Given the description of an element on the screen output the (x, y) to click on. 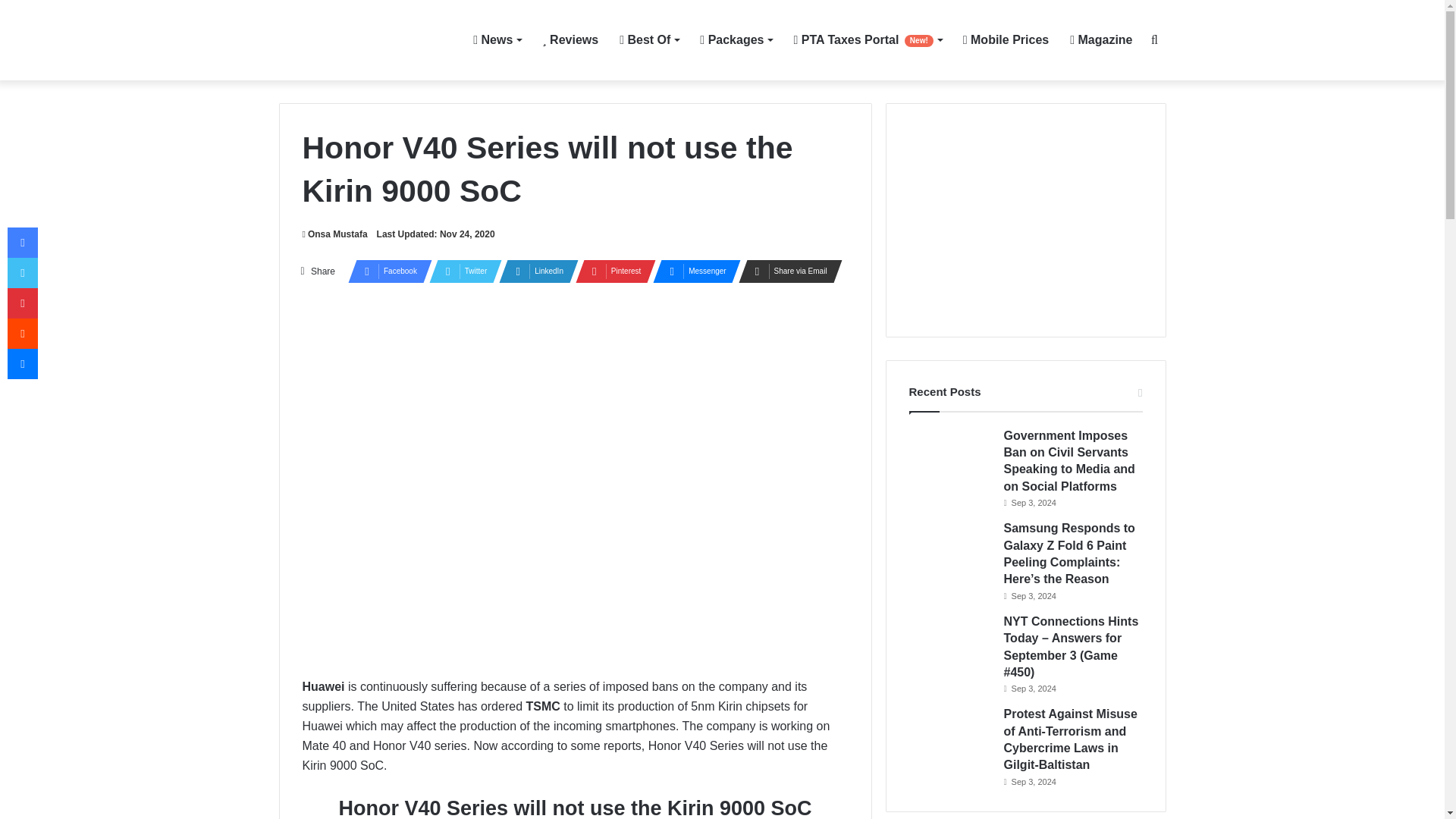
Mobile Prices (1005, 40)
Reviews (569, 40)
Magazine (1100, 40)
Twitter (461, 271)
Best Of (648, 40)
Packages (735, 40)
Pinterest (610, 271)
LinkedIn (534, 271)
Share via Email (785, 271)
Facebook (385, 271)
